Given the description of an element on the screen output the (x, y) to click on. 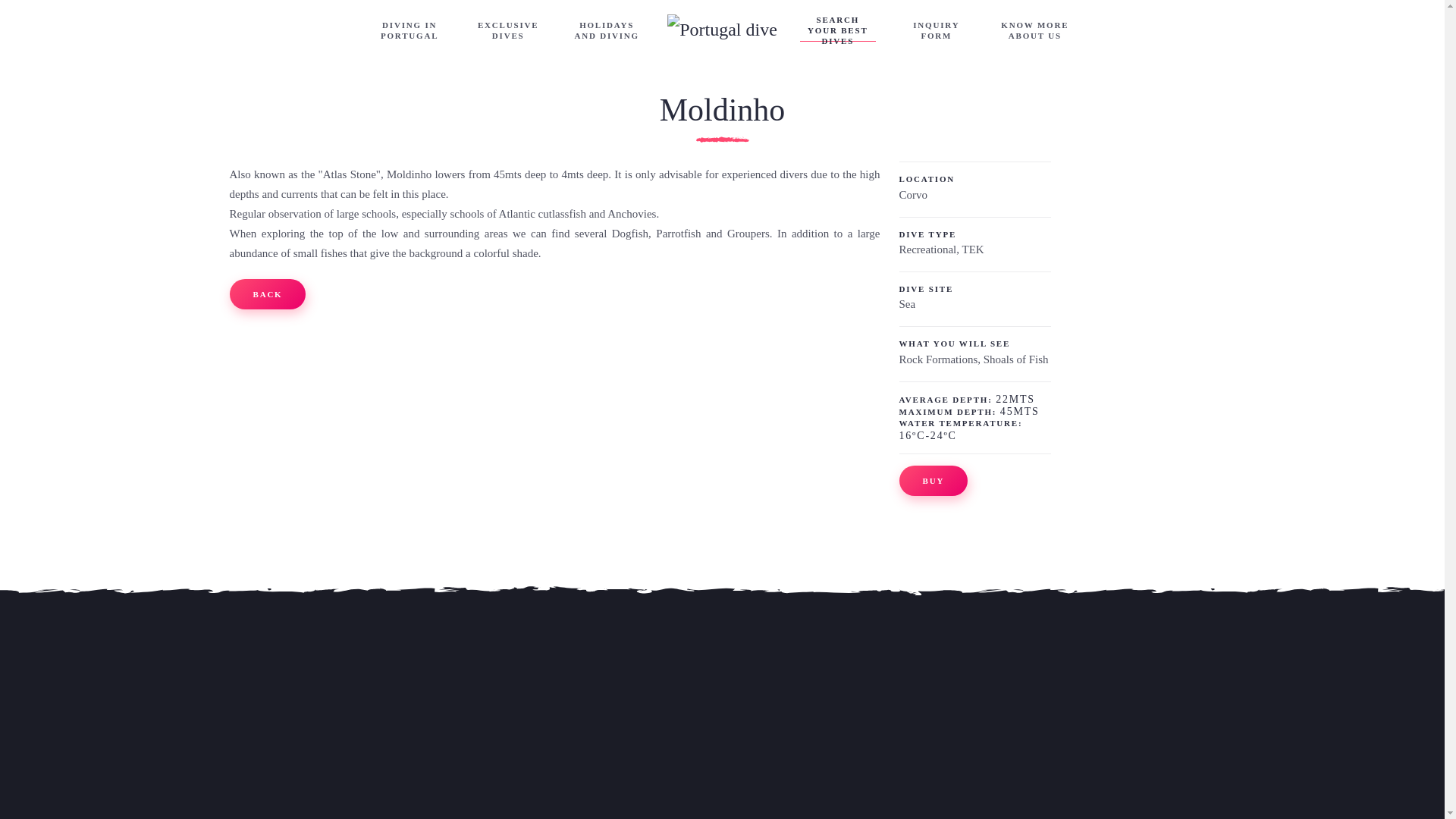
DIVING IN PORTUGAL (408, 30)
HOLIDAYS AND DIVING (606, 30)
EXCLUSIVE DIVES (507, 30)
